Given the description of an element on the screen output the (x, y) to click on. 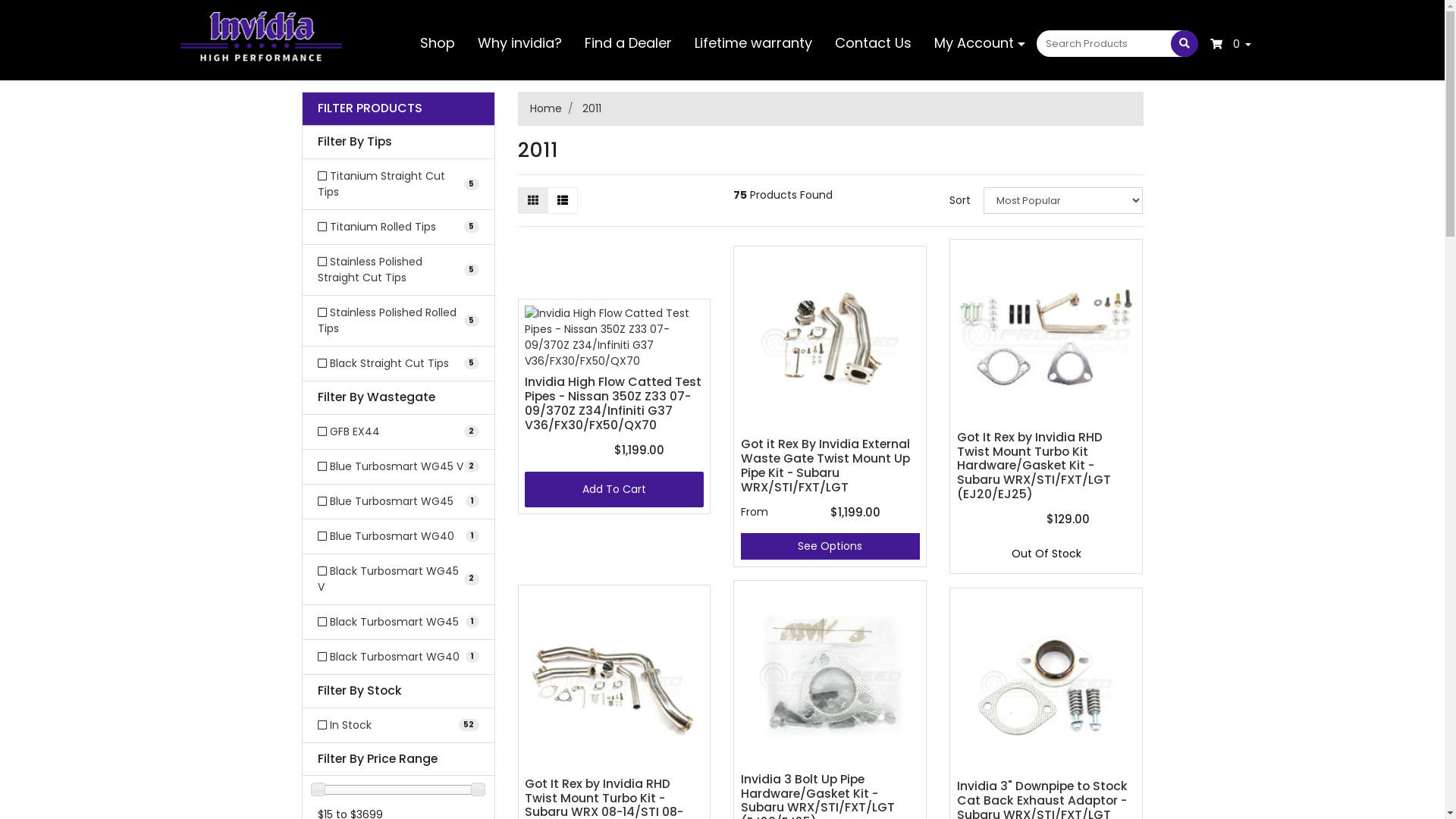
Black Turbosmart WG40
1 Element type: text (397, 656)
2011 Element type: text (591, 108)
Contact Us Element type: text (872, 42)
Stainless Polished Straight Cut Tips
5 Element type: text (397, 269)
Lifetime warranty Element type: text (753, 42)
Find a Dealer Element type: text (628, 42)
Blue Turbosmart WG45 V
2 Element type: text (397, 466)
Black Turbosmart WG45 V
2 Element type: text (397, 579)
Search Element type: text (1184, 43)
Titanium Rolled Tips
5 Element type: text (397, 226)
Shop Element type: text (437, 42)
Black Straight Cut Tips
5 Element type: text (397, 363)
Why invidia? Element type: text (519, 42)
Black Turbosmart WG45
1 Element type: text (397, 622)
FILTER PRODUCTS Element type: text (397, 108)
Titanium Straight Cut Tips
5 Element type: text (397, 184)
Out Of Stock Element type: text (1046, 553)
0 Element type: text (1230, 44)
Stainless Polished Rolled Tips
5 Element type: text (397, 320)
Add To Cart Element type: text (613, 489)
Home Element type: text (545, 108)
See Options Element type: text (829, 546)
GFB EX44
2 Element type: text (397, 431)
Invidia Exhausts Element type: hover (261, 35)
Blue Turbosmart WG45
1 Element type: text (397, 501)
My Account Element type: text (979, 42)
Blue Turbosmart WG40
1 Element type: text (397, 536)
In Stock
52 Element type: text (397, 725)
